Given the description of an element on the screen output the (x, y) to click on. 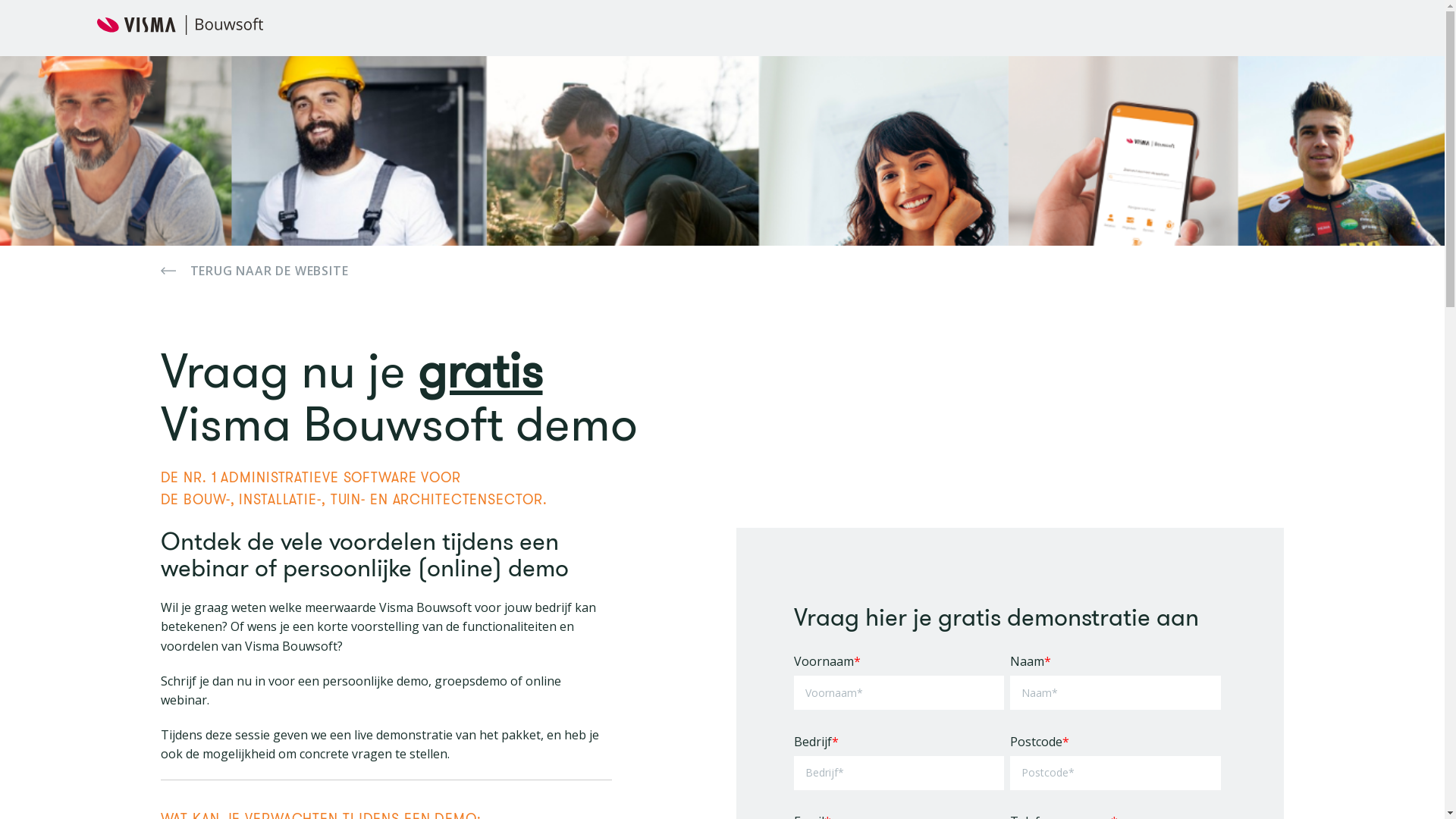
TERUG NAAR DE WEBSITE Element type: text (722, 271)
Visma Bouwsoft Logo Pos Element type: hover (180, 24)
Visma Bouwsoft demo  Element type: text (404, 422)
Vraag nu je gratis Element type: text (351, 369)
